Given the description of an element on the screen output the (x, y) to click on. 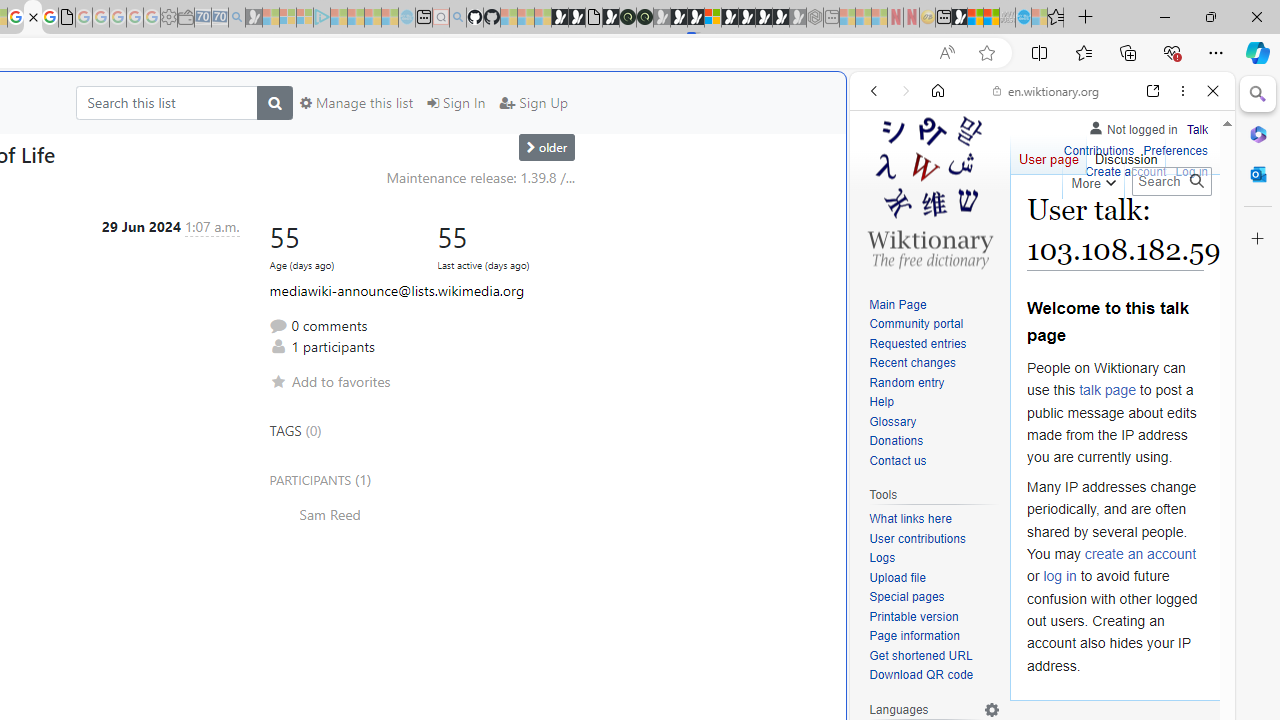
Preferences (1175, 151)
Printable version (934, 616)
Language settings (992, 709)
What links here (934, 519)
create an account (1140, 553)
Wallet - Sleeping (185, 17)
Cheap Car Rentals - Save70.com - Sleeping (219, 17)
Community portal (916, 323)
Class: b_serphb (1190, 229)
Wiktionary (1034, 669)
